Given the description of an element on the screen output the (x, y) to click on. 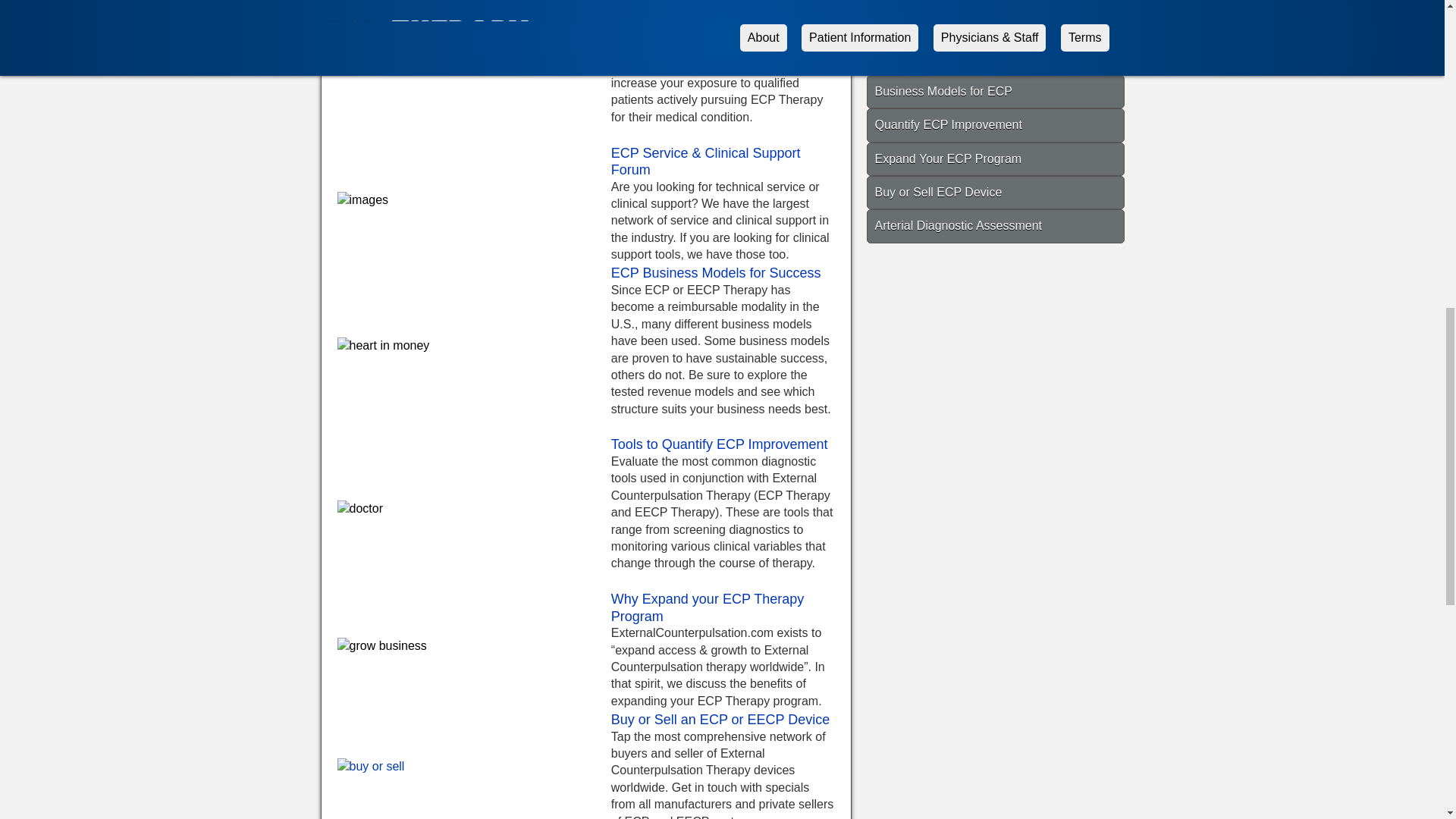
Expand ECP EECP Program (707, 607)
Expand Your ECP Program (995, 159)
Buy or Sell an ECP or EECP Device (720, 719)
Buy or Sell ECP Device (995, 192)
Why Expand your ECP Therapy Program (707, 607)
Tools to Quantify ECP Improvement (719, 444)
ECP and EECP Therapy Business Models (716, 272)
Diagnostic Tools to Quantify ECP EECP Improvement (719, 444)
Effective Marketing Programs (995, 24)
ECP Business Models for Success (716, 272)
Our Patient Referral Program (700, 2)
Buy or Sell ECP or EECP Therapy machine (720, 719)
ECP and EECP Patient Referral Program (700, 2)
Arterial Diagnostic Assessment (995, 226)
ECP and EECP Service and Therapist Forum (705, 161)
